Given the description of an element on the screen output the (x, y) to click on. 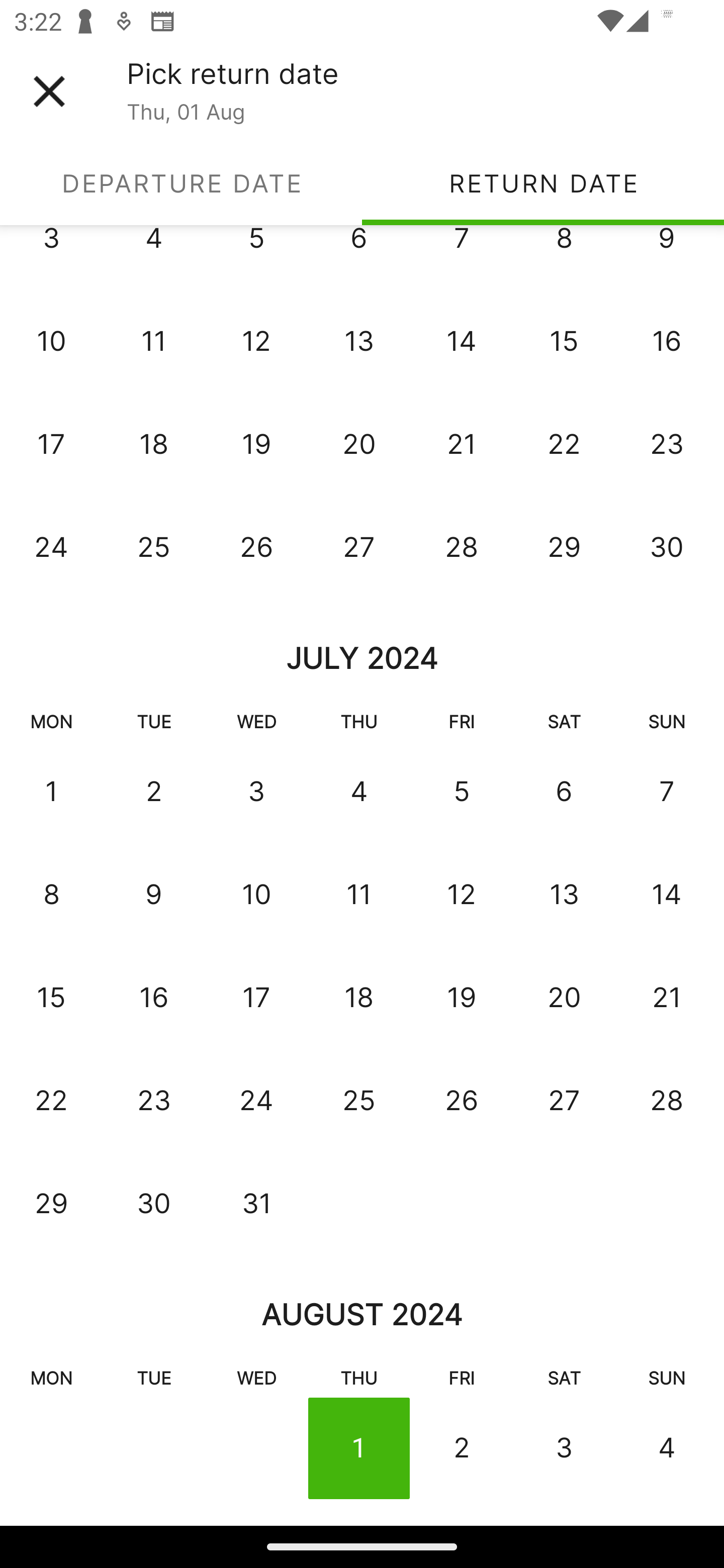
Departure Date DEPARTURE DATE (181, 183)
